Given the description of an element on the screen output the (x, y) to click on. 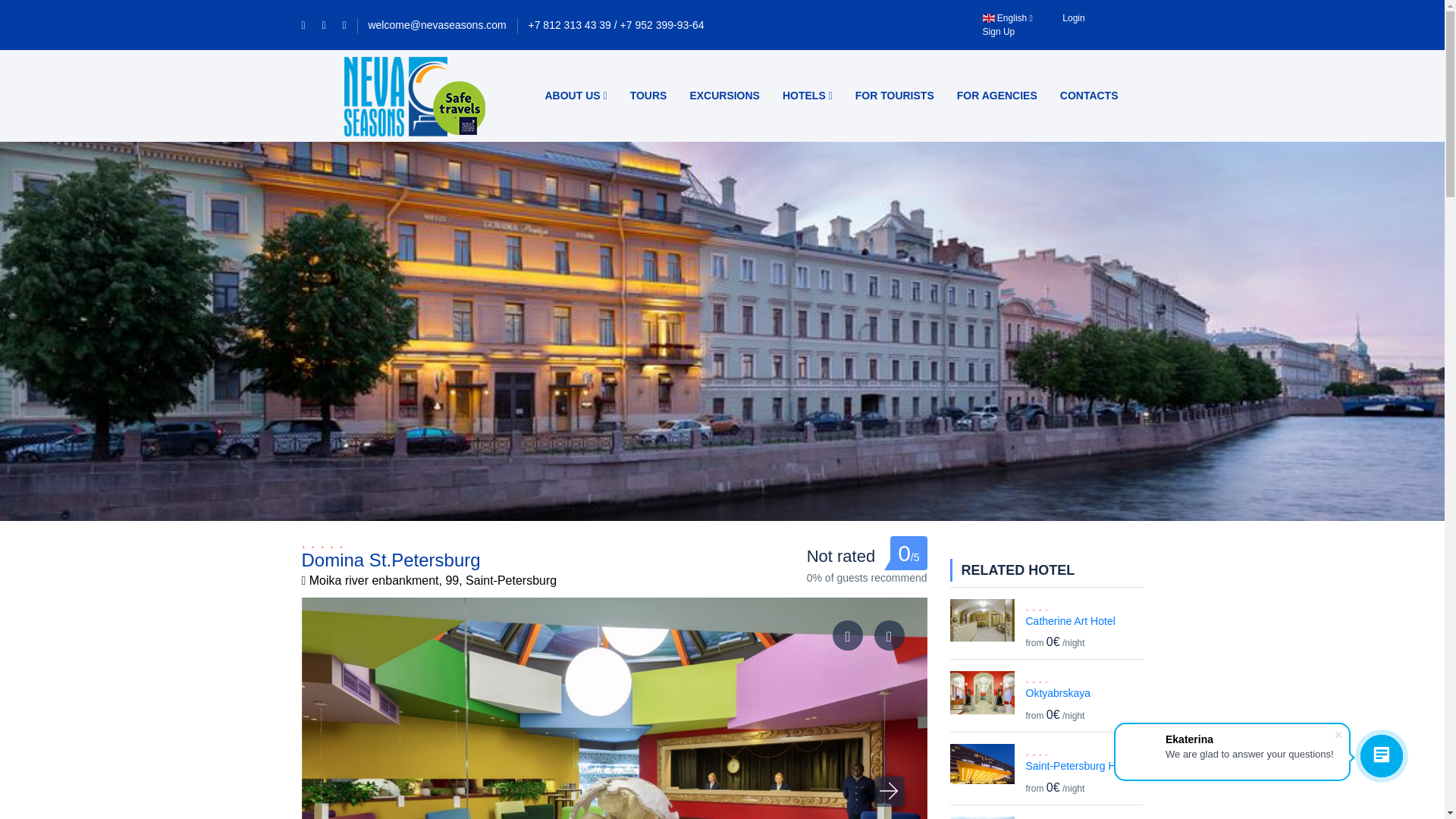
HOTELS (807, 95)
Login (1073, 18)
English (1007, 18)
EXCURSIONS (724, 95)
FOR AGENCIES (996, 95)
CONTACTS (1088, 95)
ABOUT US (576, 95)
Sign Up (998, 31)
TOURS (648, 95)
FOR TOURISTS (894, 95)
